Given the description of an element on the screen output the (x, y) to click on. 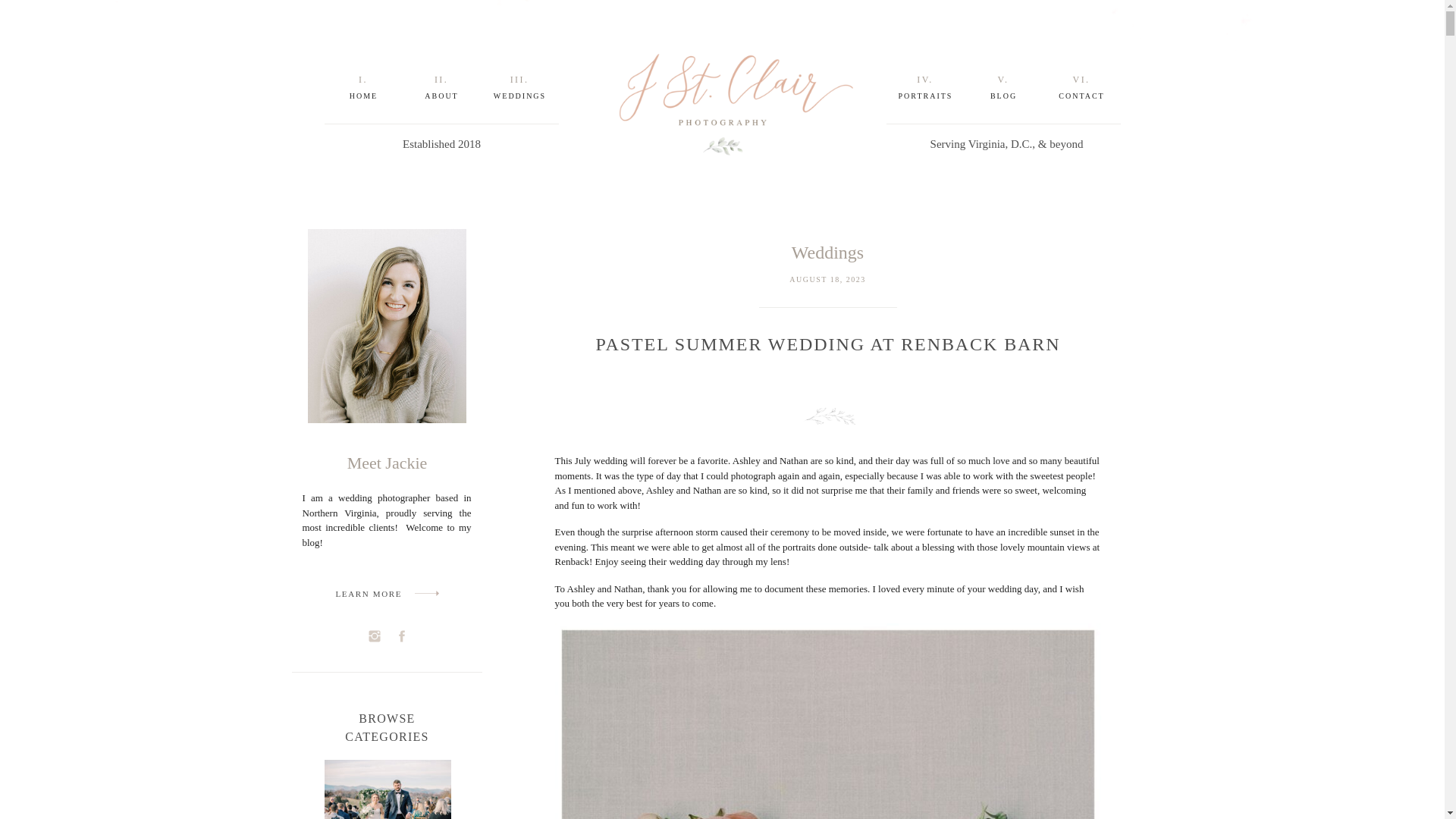
III. (519, 79)
II. (440, 79)
VI. (1080, 79)
LEARN MORE (370, 593)
V. (1002, 79)
I. (363, 79)
ABOUT (441, 95)
Weddings (827, 252)
WEDDINGS (518, 95)
Path Created with Sketch. (425, 593)
CONTACT (1082, 95)
IV. (924, 79)
Path Created with Sketch. (425, 593)
HOME (362, 95)
PORTRAITS (925, 95)
